Given the description of an element on the screen output the (x, y) to click on. 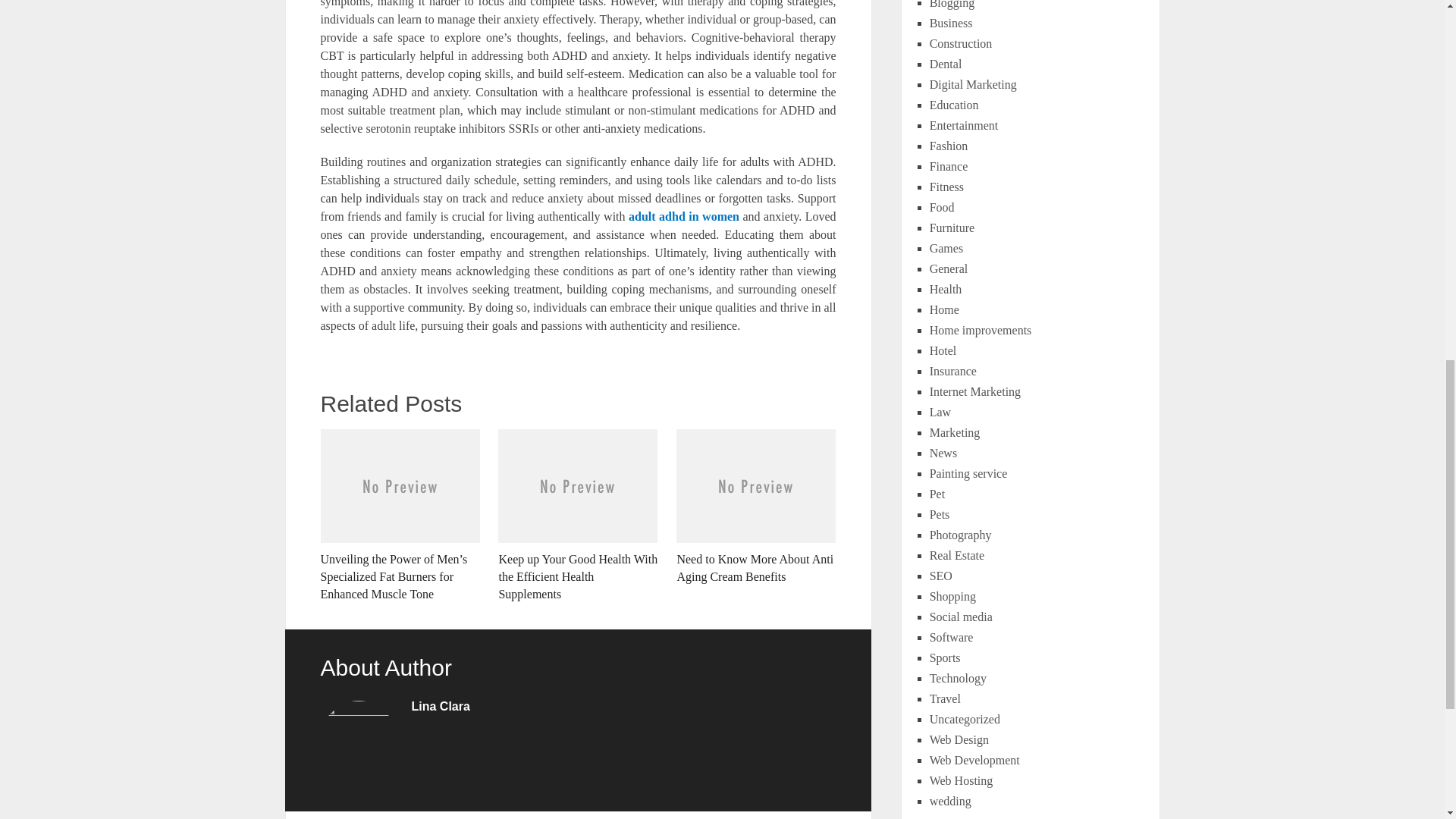
Finance (949, 165)
Home (944, 309)
Fashion (949, 145)
Education (954, 104)
Need to Know More About Anti Aging Cream Benefits (756, 507)
Digital Marketing (973, 83)
Need to Know More About Anti Aging Cream Benefits (756, 507)
Entertainment (964, 124)
Games (946, 247)
Business (951, 22)
